Given the description of an element on the screen output the (x, y) to click on. 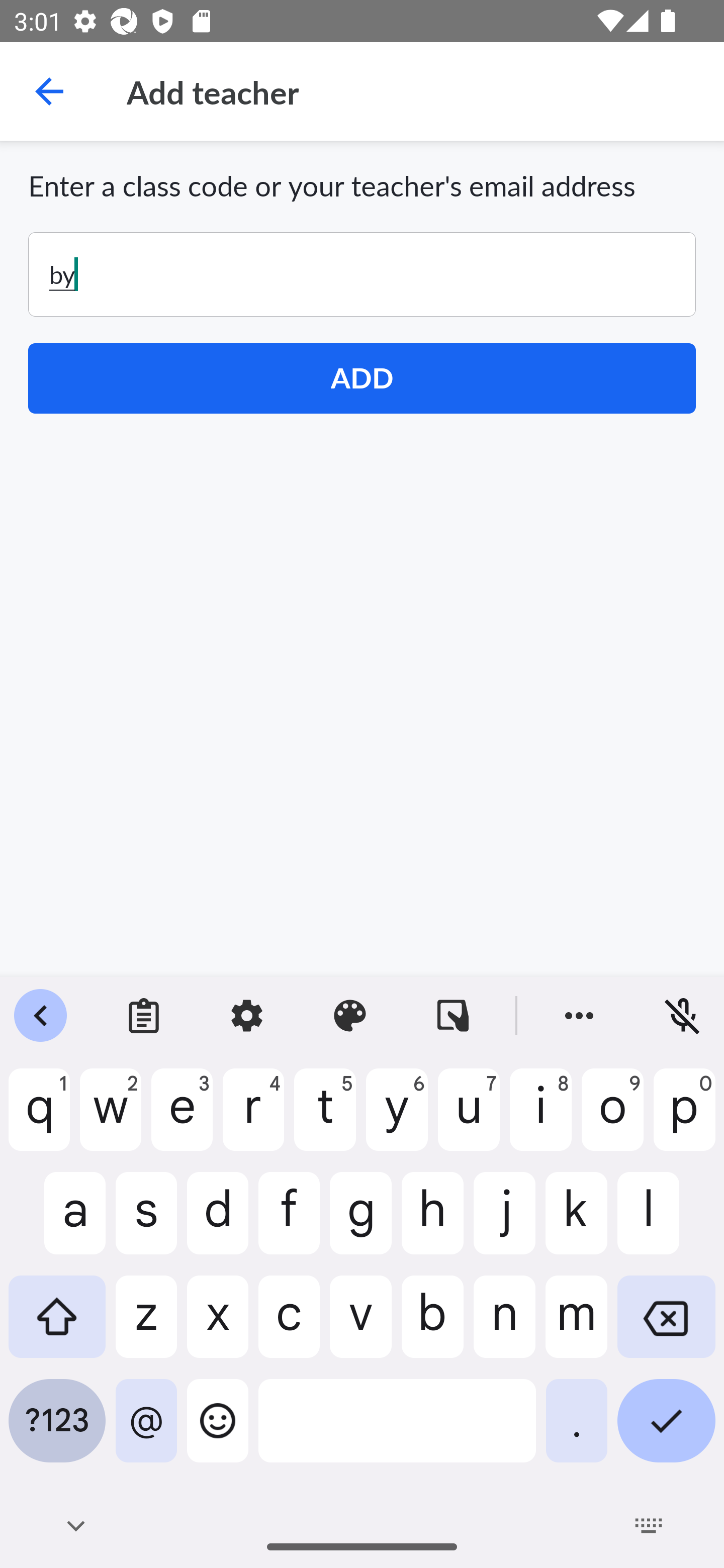
Navigate up (49, 91)
by e.g. ABC123 or teacher@example.com (361, 274)
ADD (361, 378)
